Given the description of an element on the screen output the (x, y) to click on. 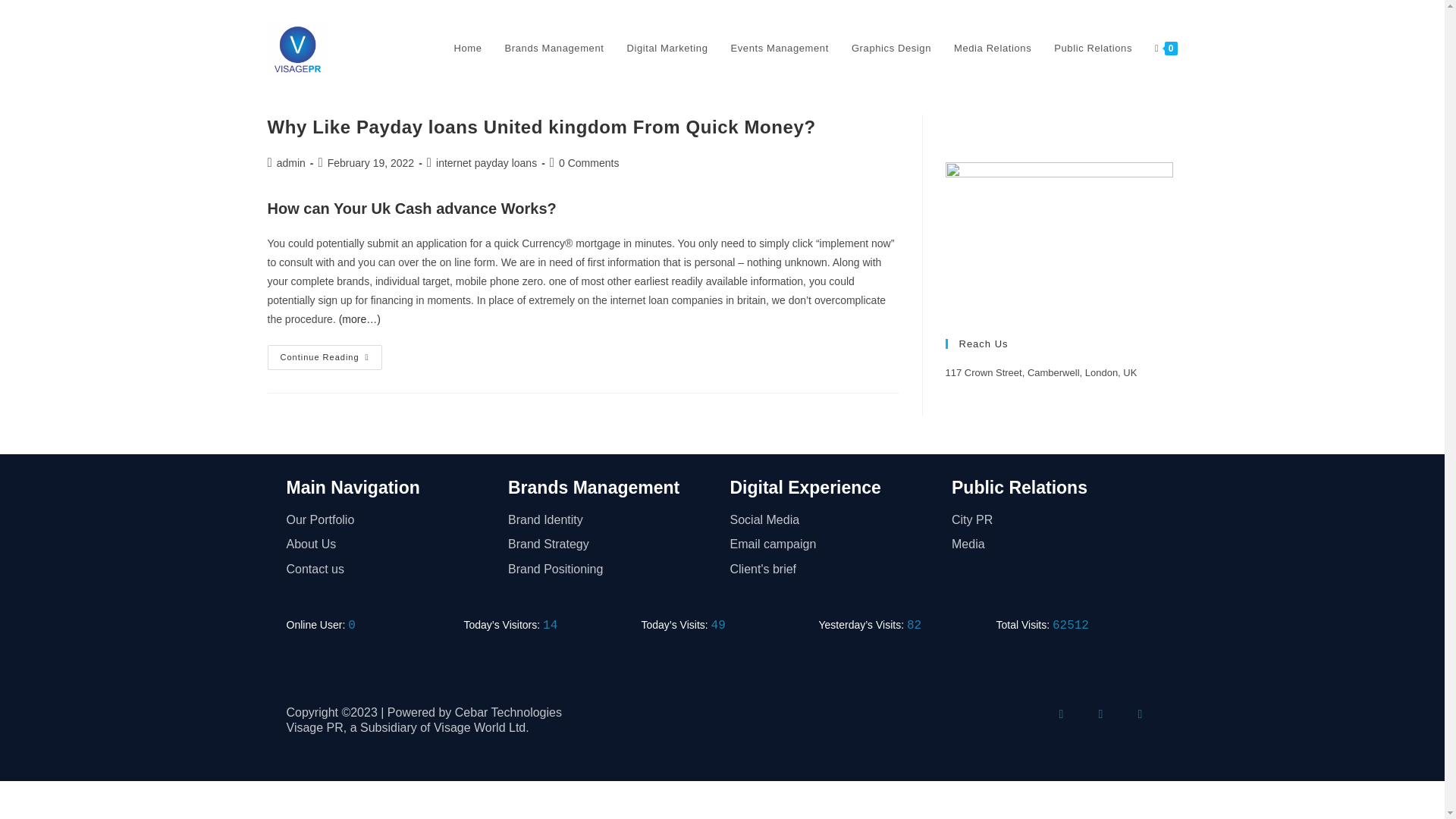
Digital Marketing (666, 48)
Brands Management (593, 487)
About Us (389, 544)
internet payday loans (486, 162)
Brand Positioning (611, 569)
0 Comments (588, 162)
Public Relations (1019, 487)
Home (467, 48)
Social Media (832, 520)
Continue Reading (323, 357)
